Given the description of an element on the screen output the (x, y) to click on. 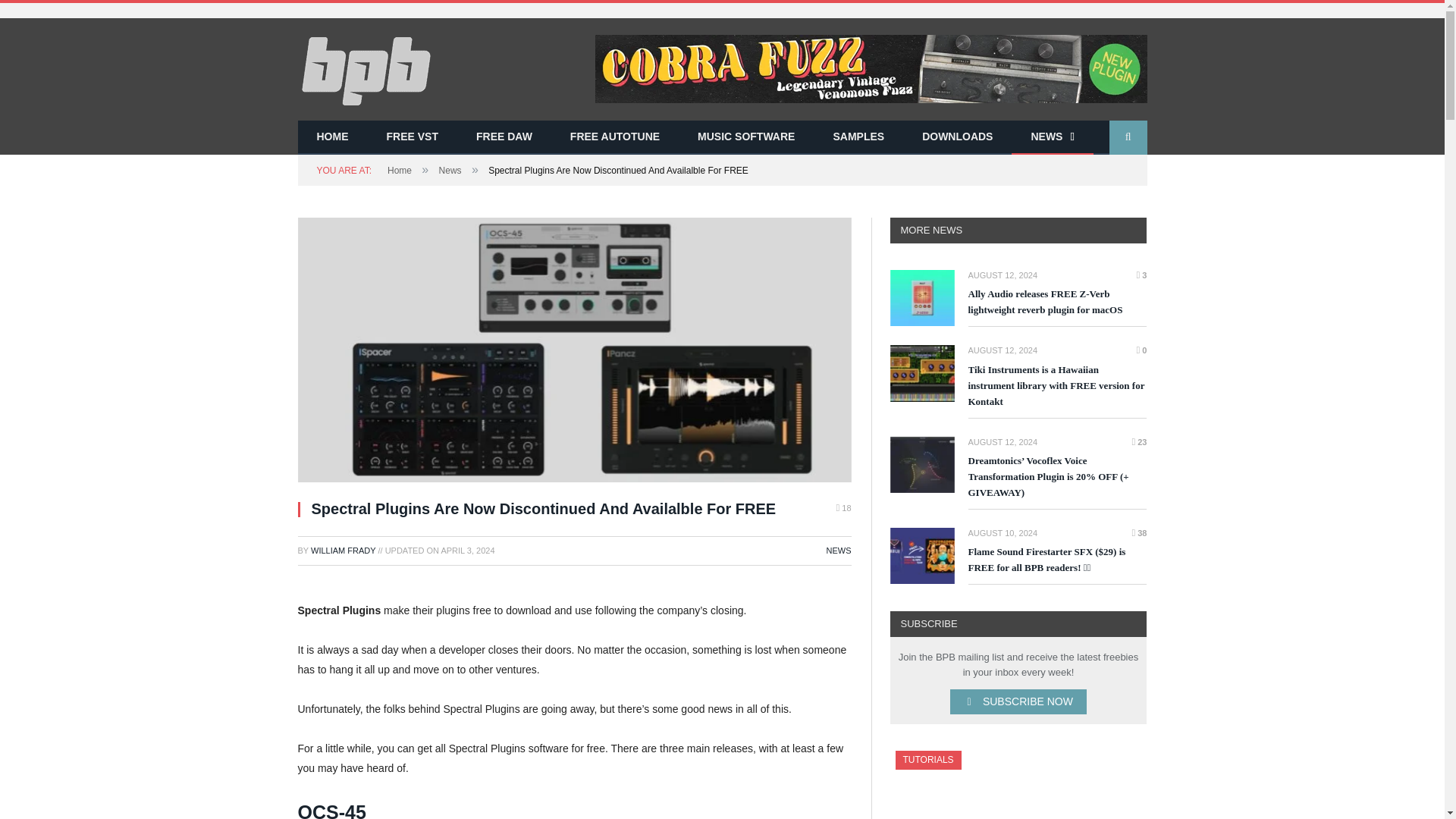
WILLIAM FRADY (343, 550)
FREE VST (411, 137)
SAMPLES (857, 137)
NEWS (839, 550)
HOME (331, 137)
MUSIC SOFTWARE (745, 137)
Free VST plugins (411, 137)
FREE DAW (504, 137)
Posts by William Frady (343, 550)
